Given the description of an element on the screen output the (x, y) to click on. 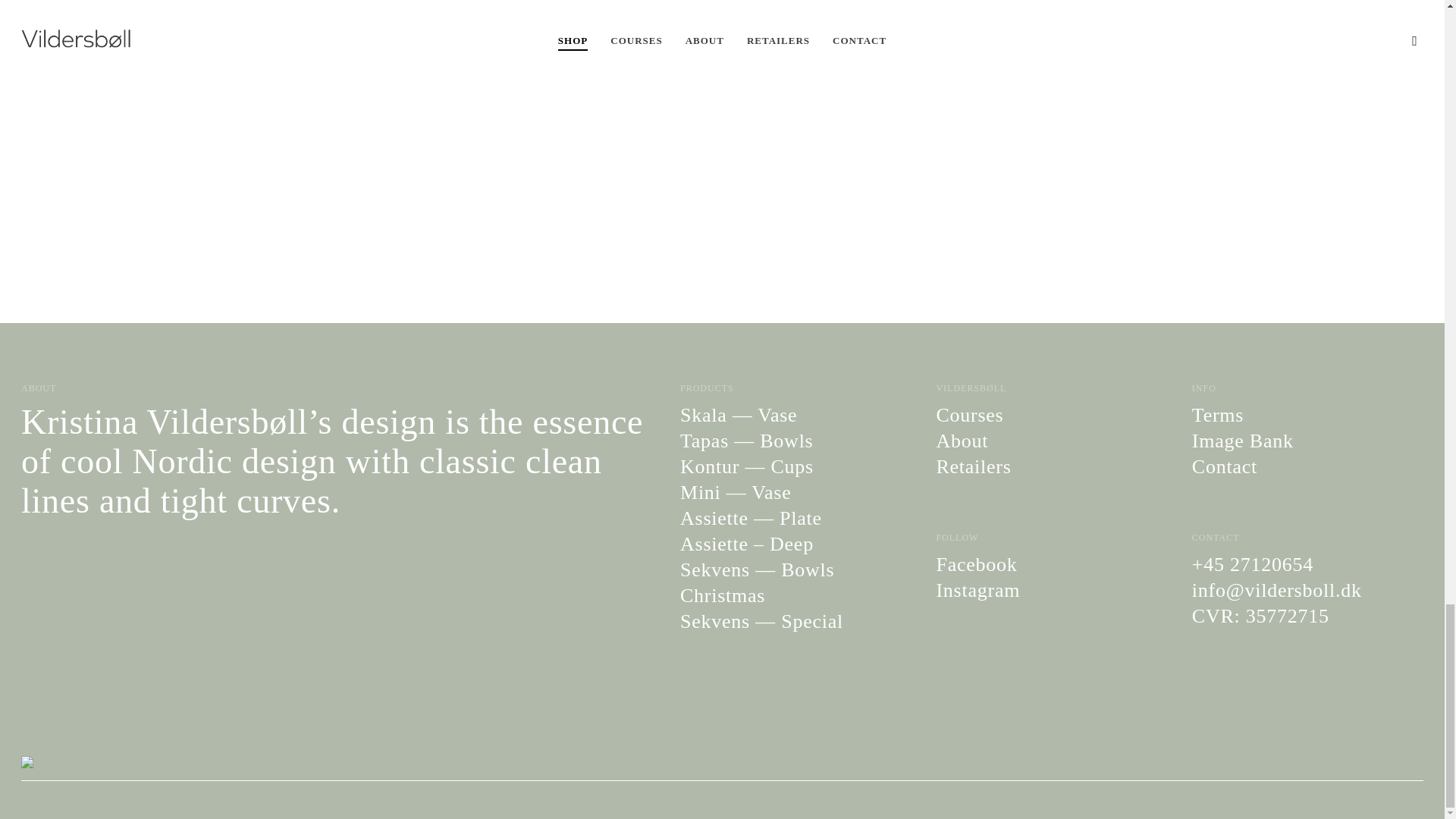
Courses (1049, 415)
About (1049, 441)
Retailers (1049, 466)
Facebook (1049, 564)
Christmas (793, 596)
